Given the description of an element on the screen output the (x, y) to click on. 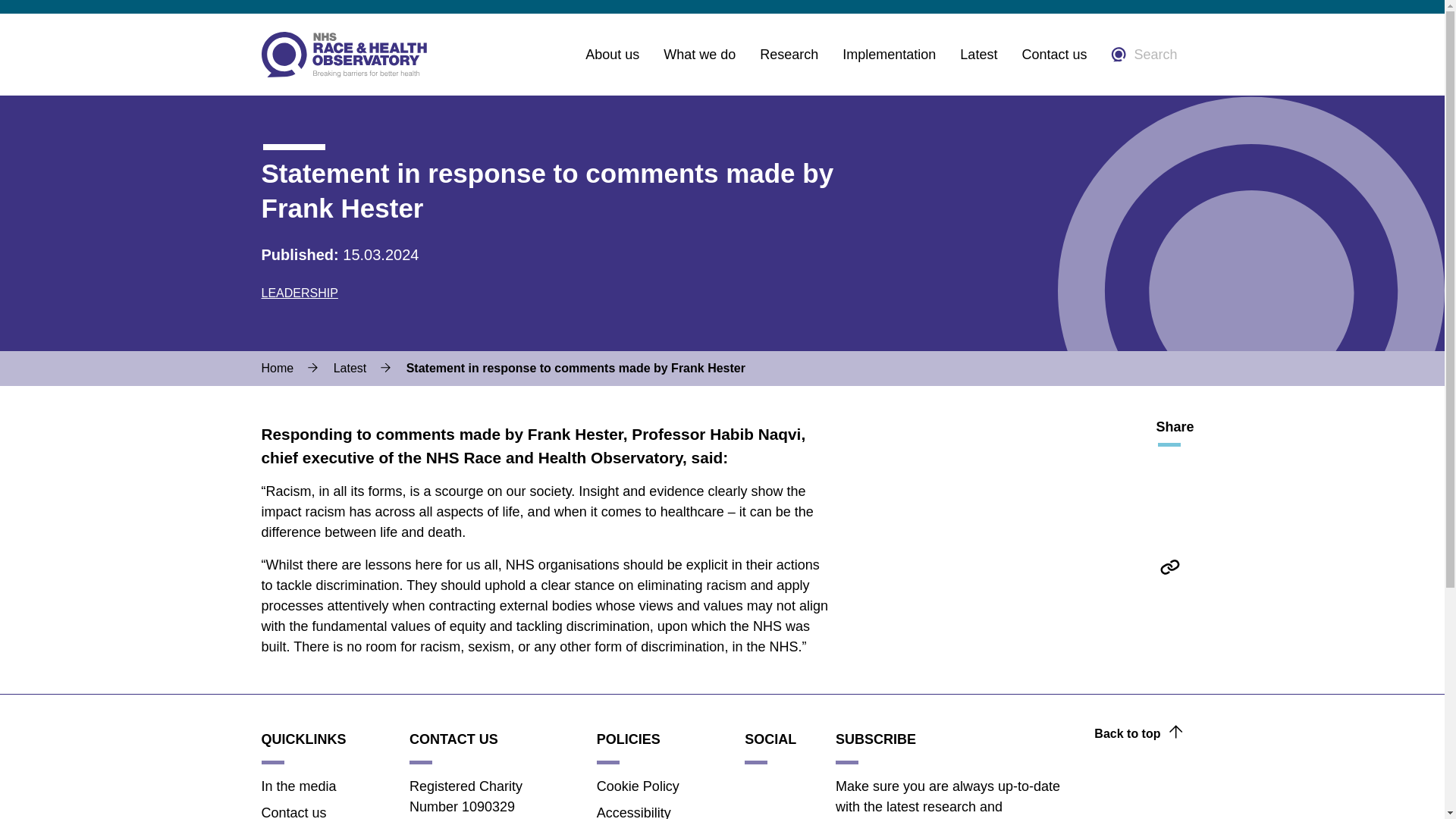
Linkedin (755, 812)
Twitter (755, 787)
Latest (978, 54)
Implementation (889, 54)
Facebook (1169, 501)
Email (1169, 599)
Search (1143, 54)
Contact us (1054, 54)
Twitter (1169, 469)
What we do (699, 54)
NHS - Race and Health Observatory (343, 53)
About us (612, 54)
Research (789, 54)
